Given the description of an element on the screen output the (x, y) to click on. 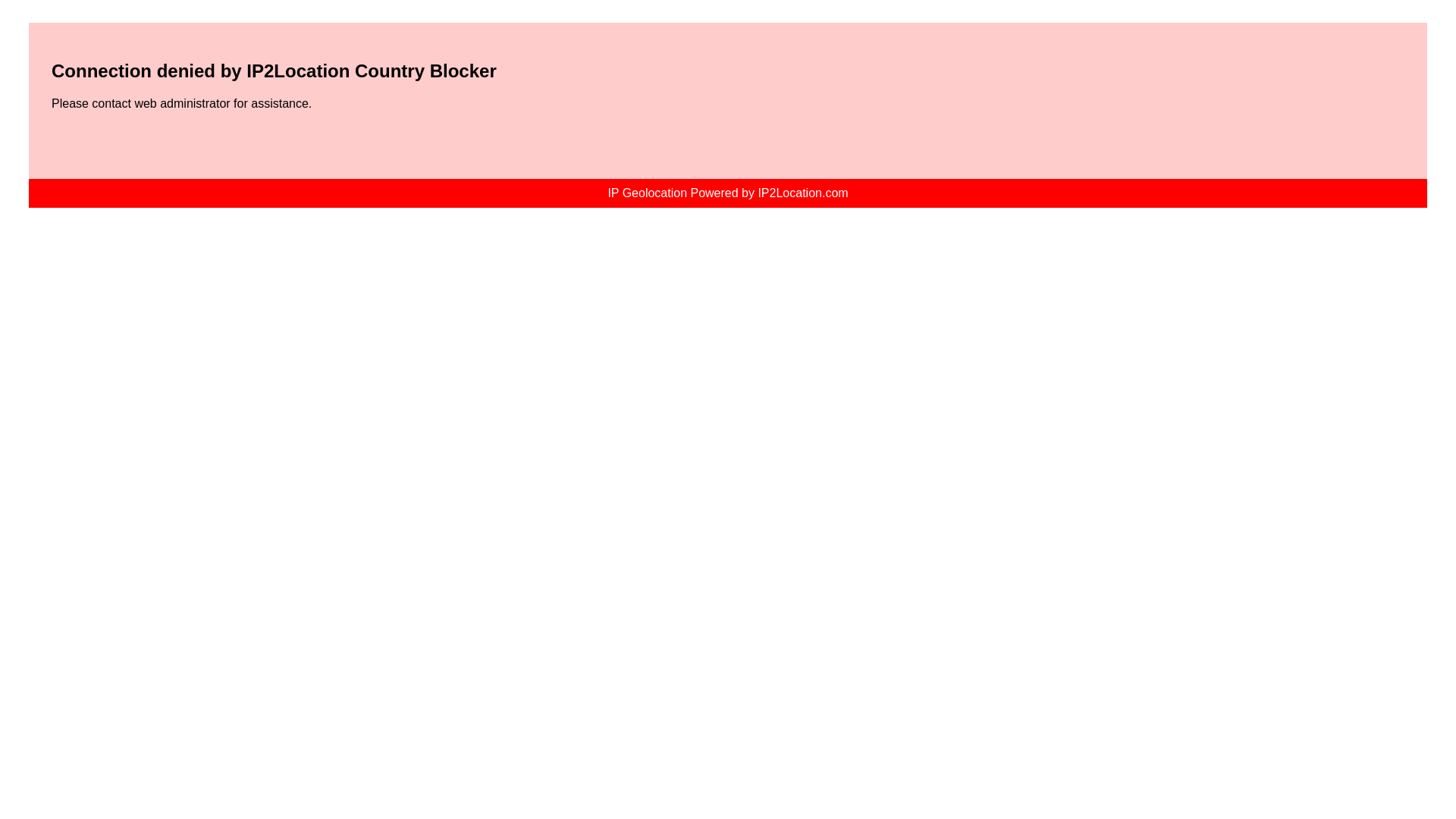
IP Geolocation Powered by IP2Location.com Element type: text (727, 192)
